Given the description of an element on the screen output the (x, y) to click on. 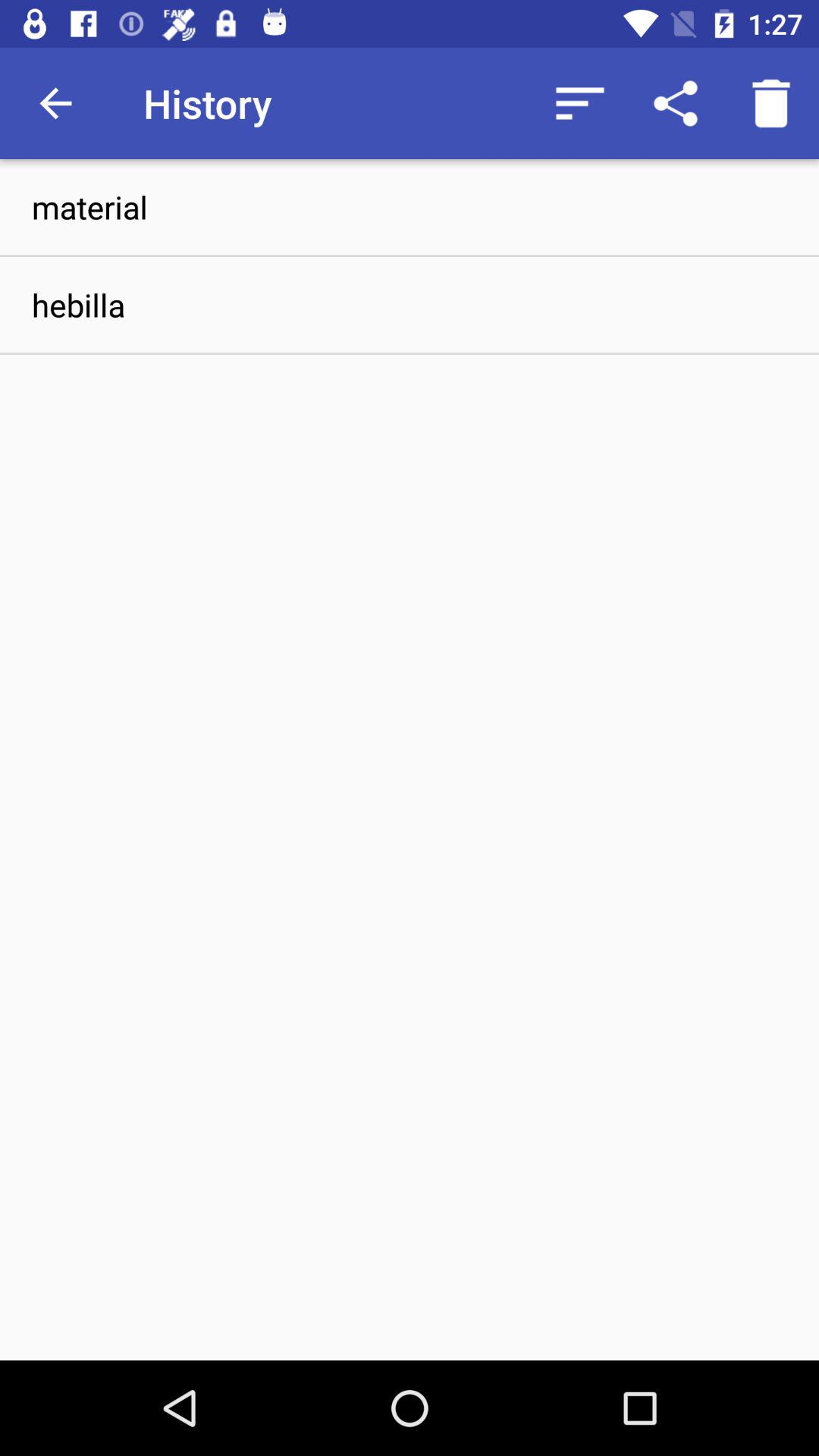
click hebilla icon (409, 304)
